Given the description of an element on the screen output the (x, y) to click on. 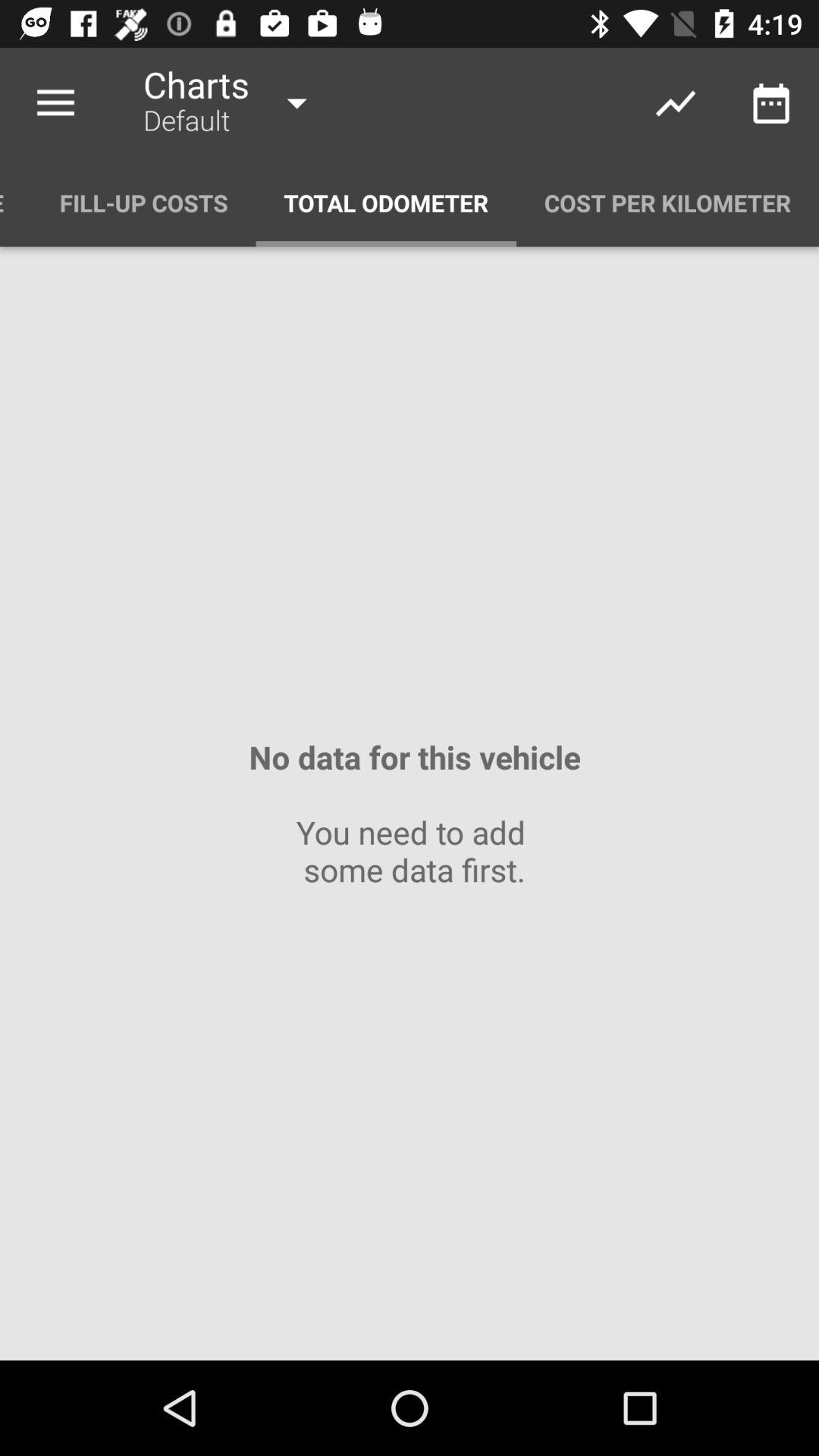
open the cost per kilometer (667, 202)
